Given the description of an element on the screen output the (x, y) to click on. 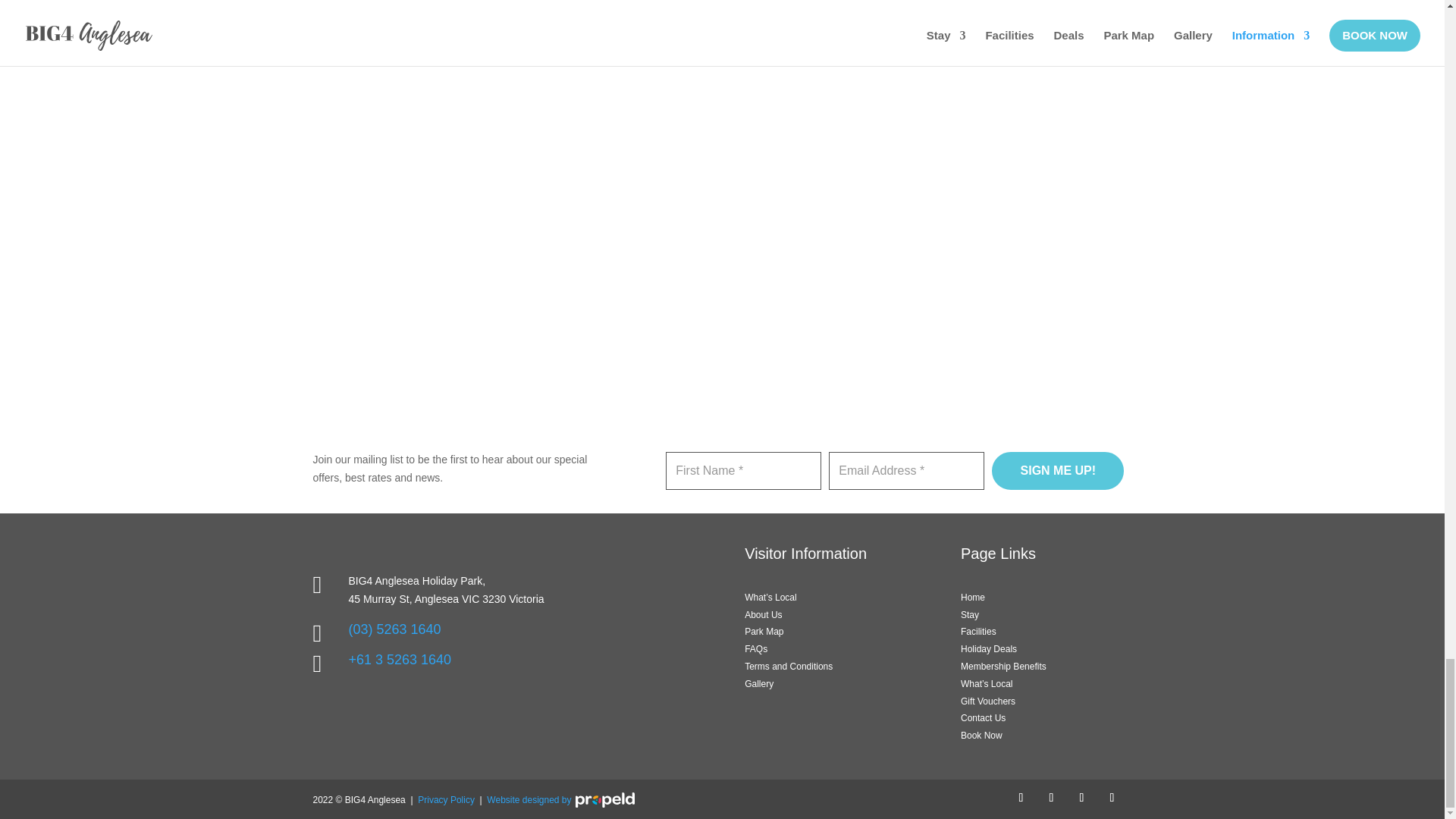
Follow on Youtube (1080, 797)
SIGN ME UP! (1057, 470)
Follow on Instagram (1050, 797)
Follow on Facebook (1020, 797)
